Given the description of an element on the screen output the (x, y) to click on. 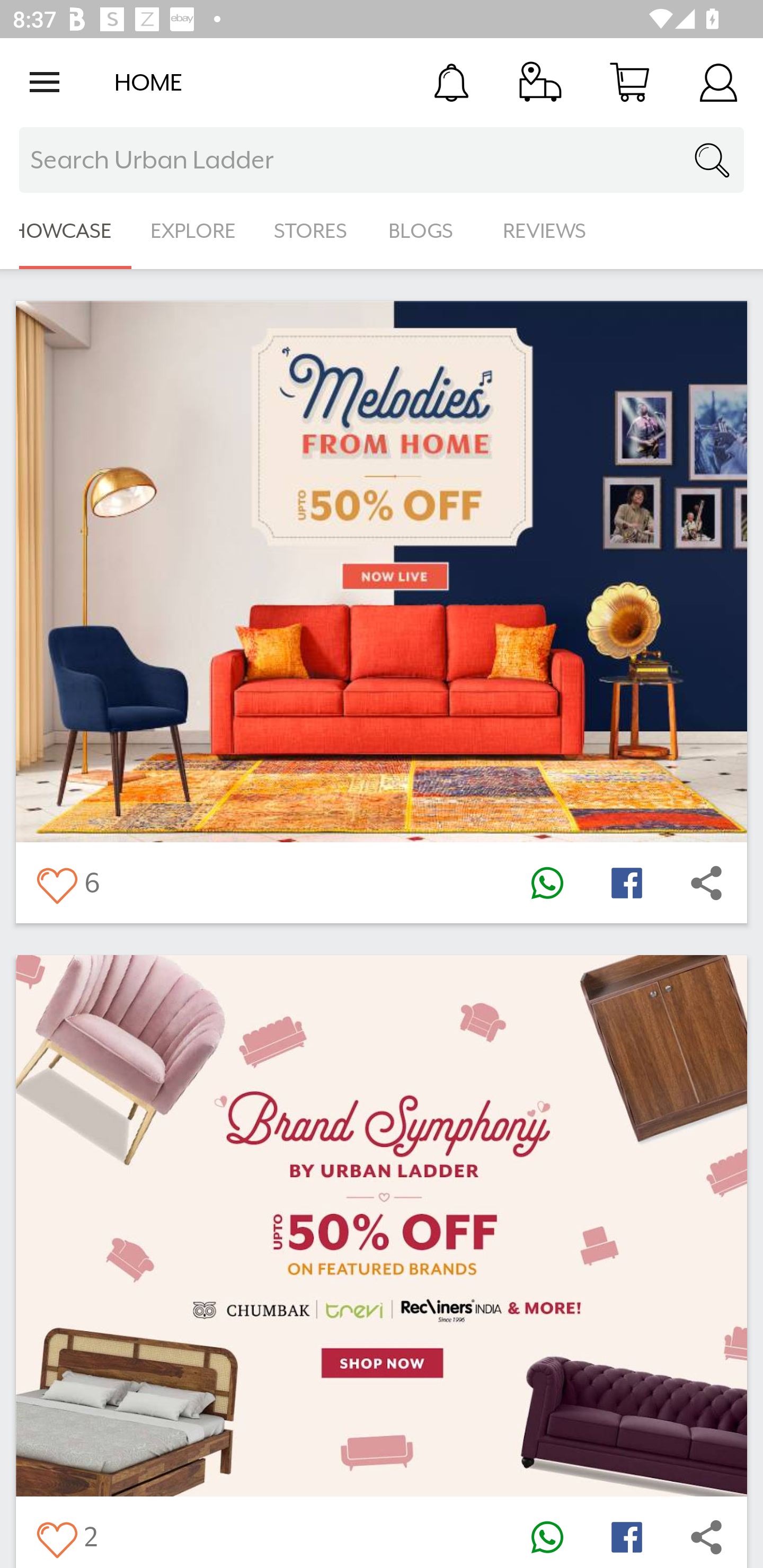
Open navigation drawer (44, 82)
Notification (450, 81)
Track Order (540, 81)
Cart (629, 81)
Account Details (718, 81)
Search Urban Ladder  (381, 159)
SHOWCASE (65, 230)
EXPLORE (192, 230)
STORES (311, 230)
BLOGS (426, 230)
REVIEWS (544, 230)
 (55, 882)
 (547, 882)
 (626, 882)
 (706, 882)
 (55, 1536)
 (547, 1536)
 (626, 1536)
 (706, 1536)
